Given the description of an element on the screen output the (x, y) to click on. 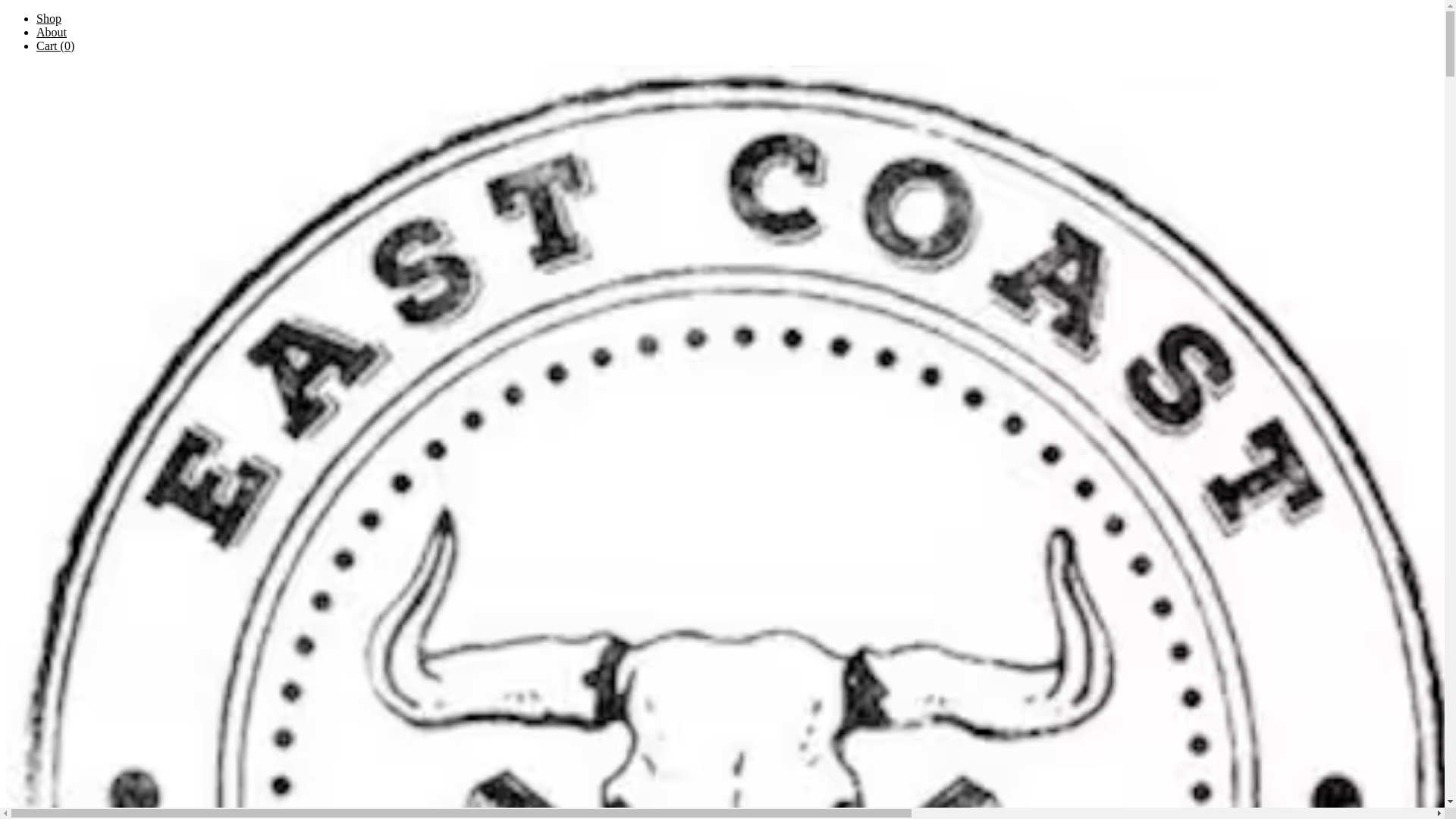
Shop (48, 18)
About (51, 31)
